Given the description of an element on the screen output the (x, y) to click on. 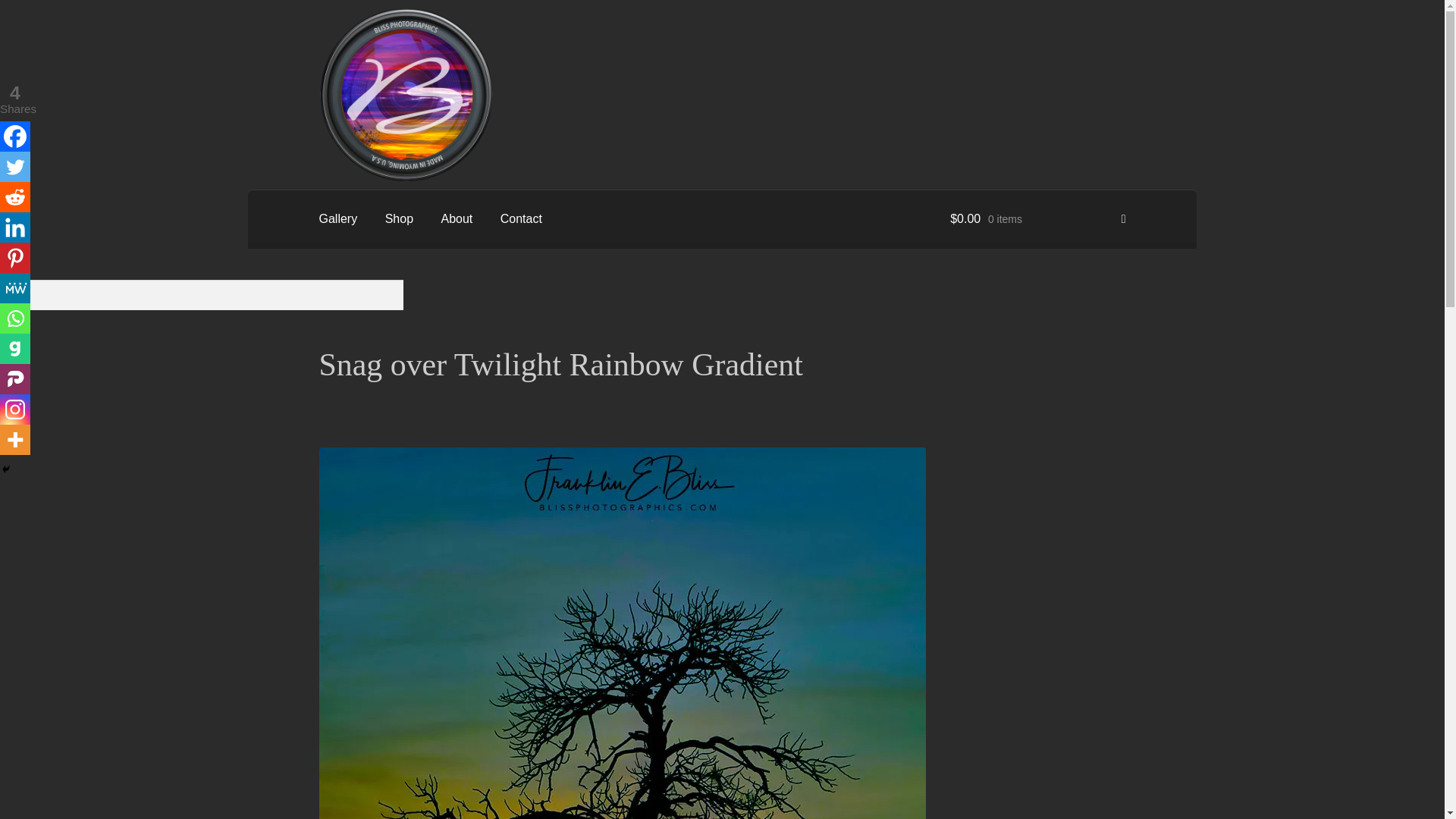
About (456, 218)
View your shopping cart (1037, 218)
Contact (520, 218)
Gallery (338, 218)
